Given the description of an element on the screen output the (x, y) to click on. 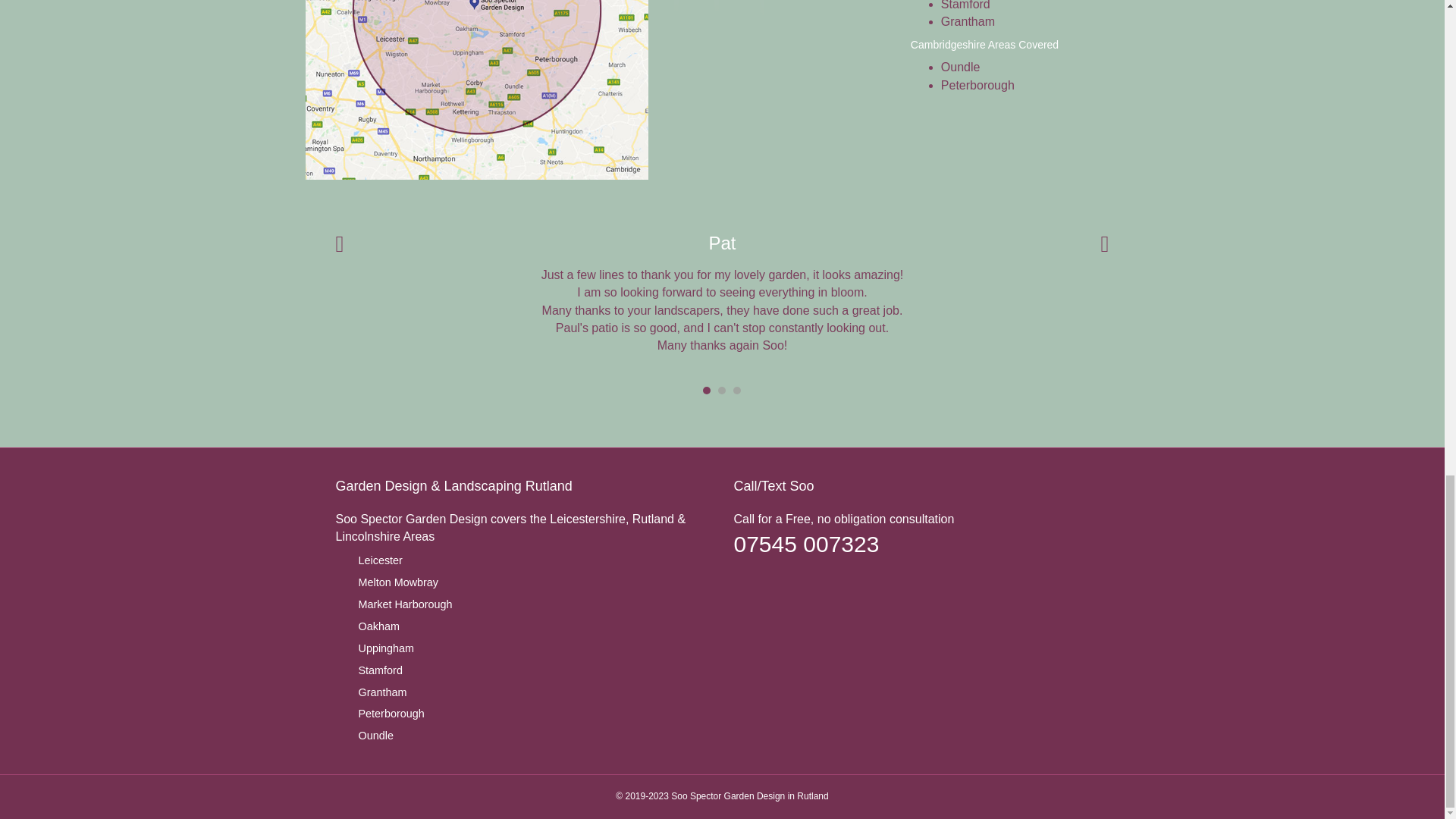
2 (721, 389)
1 (706, 389)
3 (737, 389)
